Given the description of an element on the screen output the (x, y) to click on. 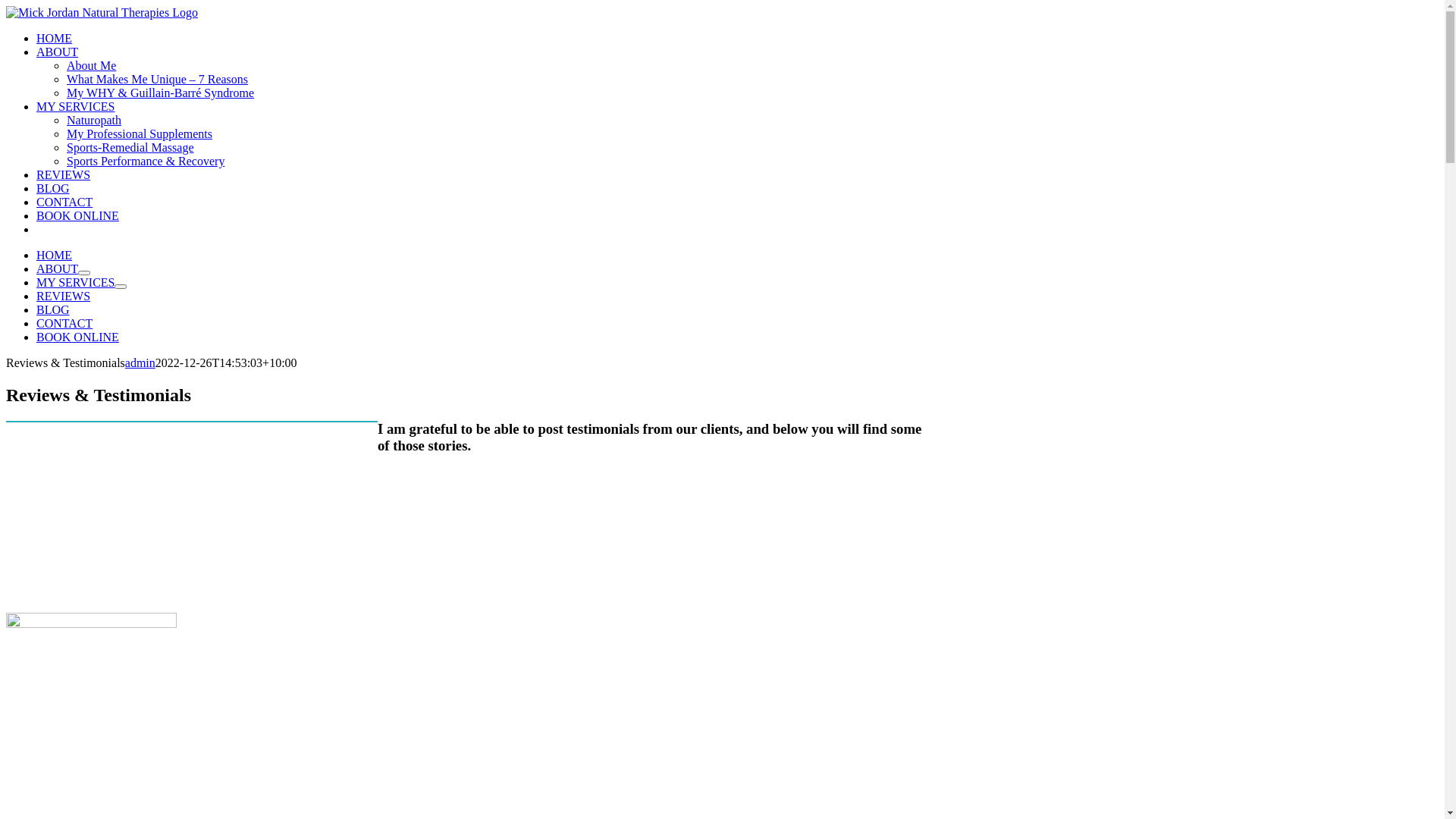
My Professional Supplements Element type: text (139, 133)
CONTACT Element type: text (64, 201)
REVIEWS Element type: text (63, 295)
ABOUT Element type: text (57, 51)
About Me Element type: text (91, 65)
admin Element type: text (140, 362)
Naturopath Element type: text (93, 119)
Sports Performance & Recovery Element type: text (145, 160)
BOOK ONLINE Element type: text (77, 336)
Sports-Remedial Massage Element type: text (130, 147)
REVIEWS Element type: text (63, 174)
BLOG Element type: text (52, 188)
MY SERVICES Element type: text (75, 282)
ABOUT Element type: text (57, 268)
BLOG Element type: text (52, 309)
Skip to content Element type: text (5, 5)
CONTACT Element type: text (64, 322)
MY SERVICES Element type: text (75, 106)
BOOK ONLINE Element type: text (77, 215)
HOME Element type: text (54, 37)
HOME Element type: text (54, 254)
